Given the description of an element on the screen output the (x, y) to click on. 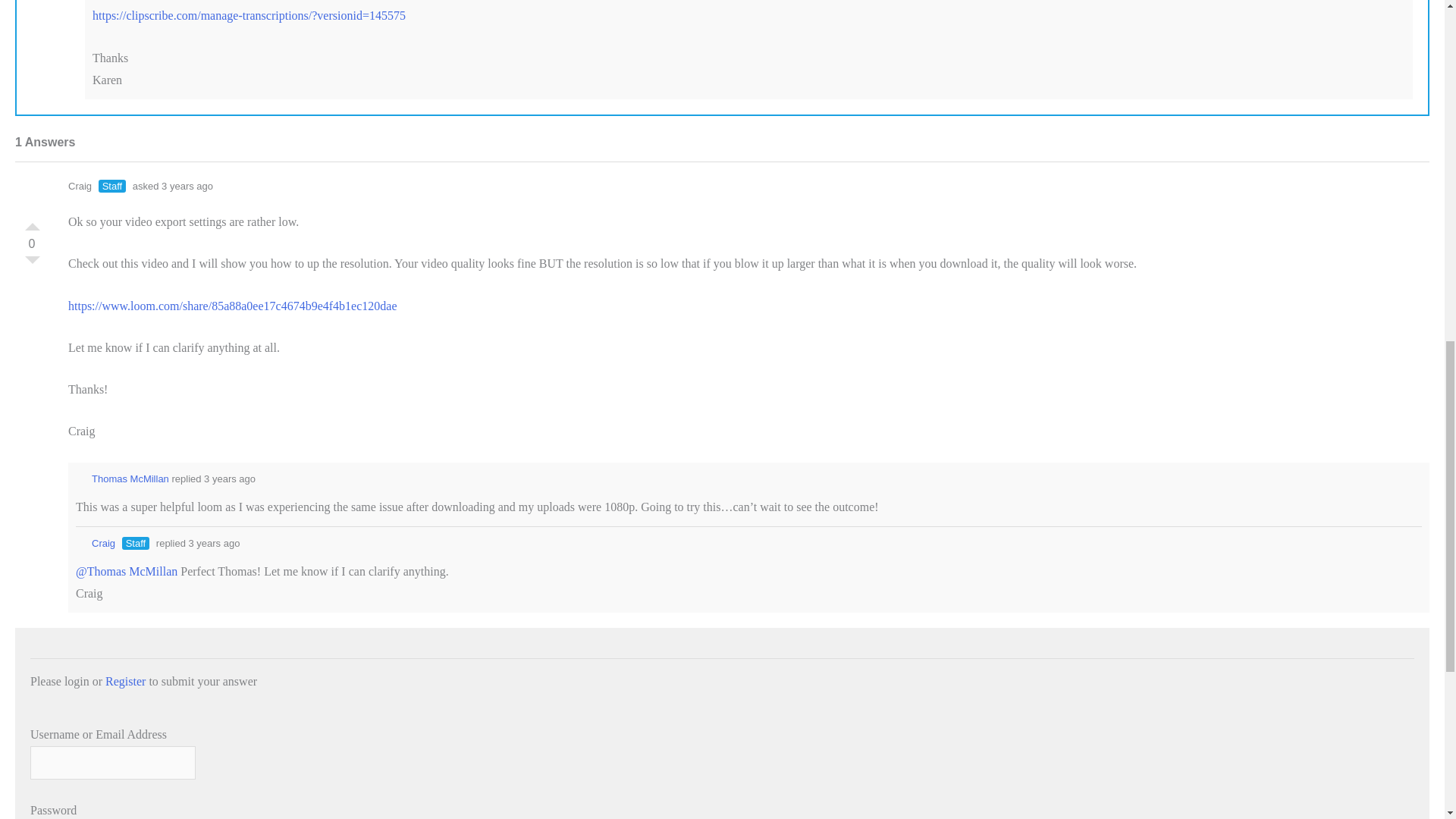
Thomas McMillan (121, 478)
Vote Down (32, 263)
Craig (95, 542)
Vote Up (32, 222)
Register (124, 680)
